Given the description of an element on the screen output the (x, y) to click on. 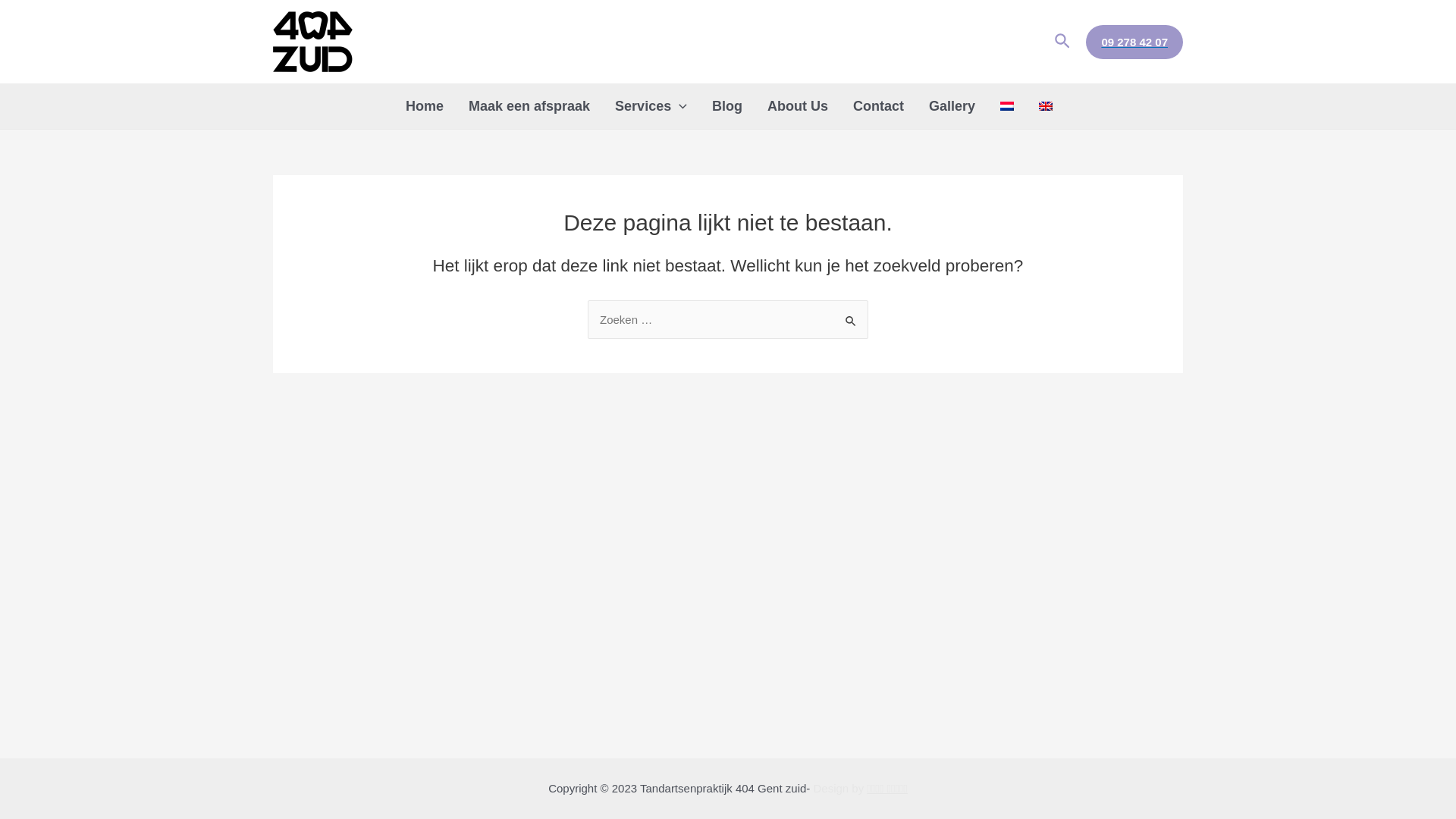
Blog Element type: text (725, 105)
Zoeken Element type: text (851, 315)
Services Element type: text (649, 105)
Zoeken Element type: text (1062, 41)
Contact Element type: text (877, 105)
Gallery Element type: text (950, 105)
09 278 42 07 Element type: text (1134, 41)
Maak een afspraak Element type: text (528, 105)
About Us Element type: text (796, 105)
Home Element type: text (423, 105)
